Given the description of an element on the screen output the (x, y) to click on. 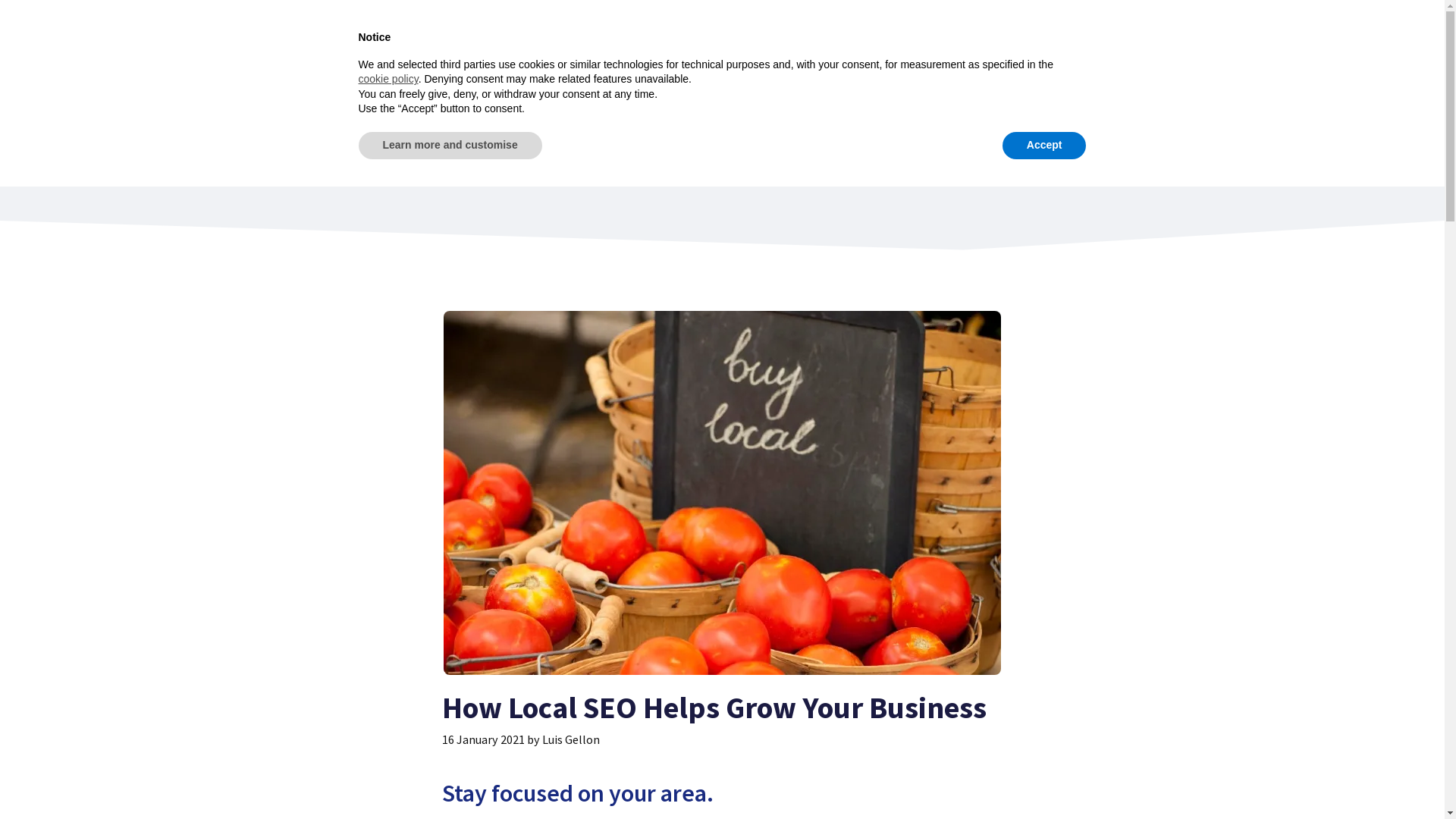
123Conecta Element type: text (338, 37)
Luis Gellon Element type: text (570, 738)
Learn more and customise Element type: text (449, 145)
LUIS GELLON Element type: text (783, 175)
cookie policy Element type: text (387, 78)
CONTACT Element type: text (1109, 45)
HOME Element type: text (861, 45)
SERVICES Element type: text (935, 45)
ABOUT Element type: text (1013, 45)
Accept Element type: text (1044, 145)
